Given the description of an element on the screen output the (x, y) to click on. 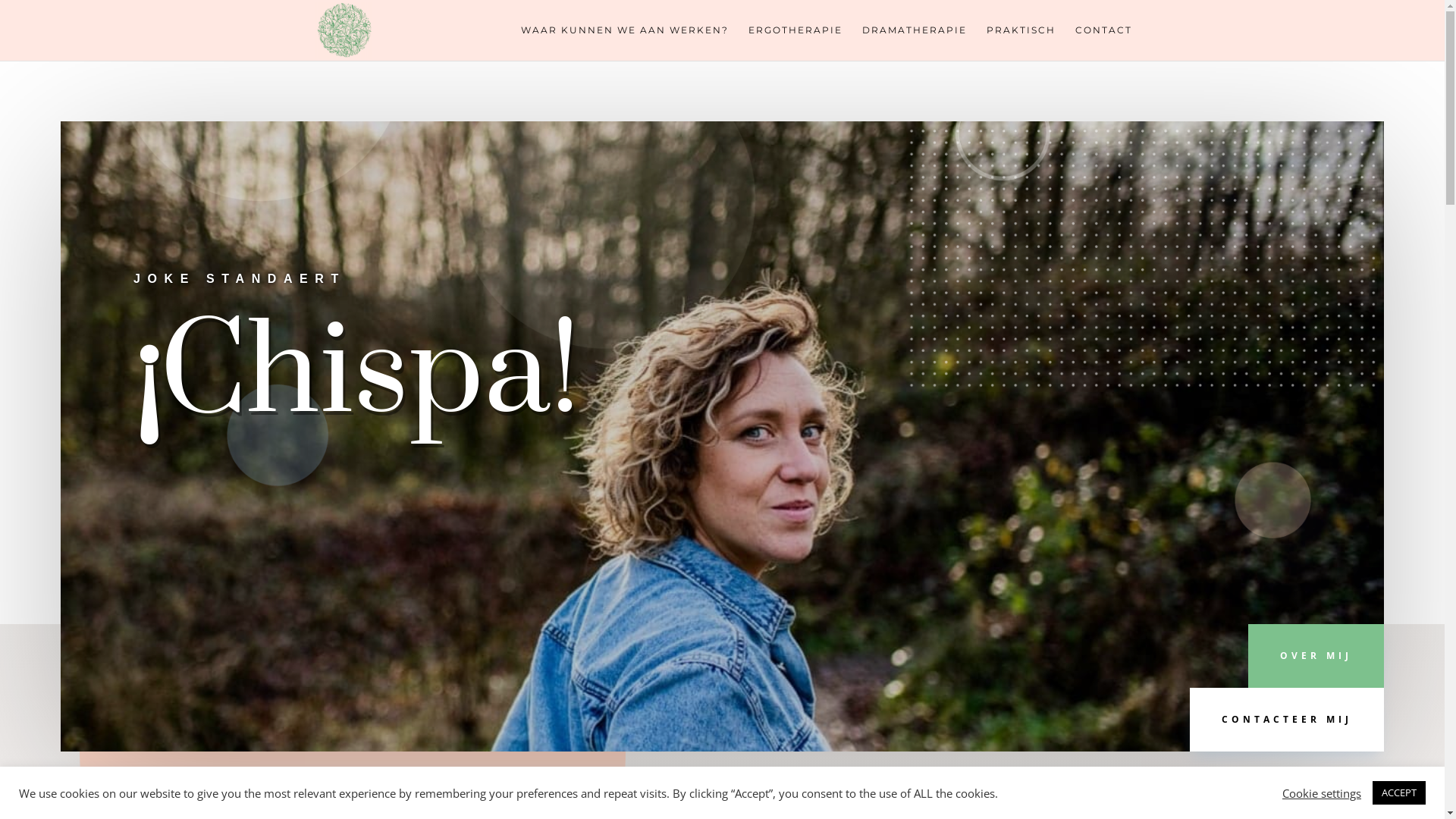
WAAR KUNNEN WE AAN WERKEN? Element type: text (624, 42)
CONTACTEER MIJ Element type: text (1286, 719)
ACCEPT Element type: text (1398, 792)
Cookie settings Element type: text (1321, 792)
OVER MIJ Element type: text (1315, 655)
CONTACT Element type: text (1103, 42)
DRAMATHERAPIE Element type: text (913, 42)
PRAKTISCH Element type: text (1019, 42)
ERGOTHERAPIE Element type: text (794, 42)
